Given the description of an element on the screen output the (x, y) to click on. 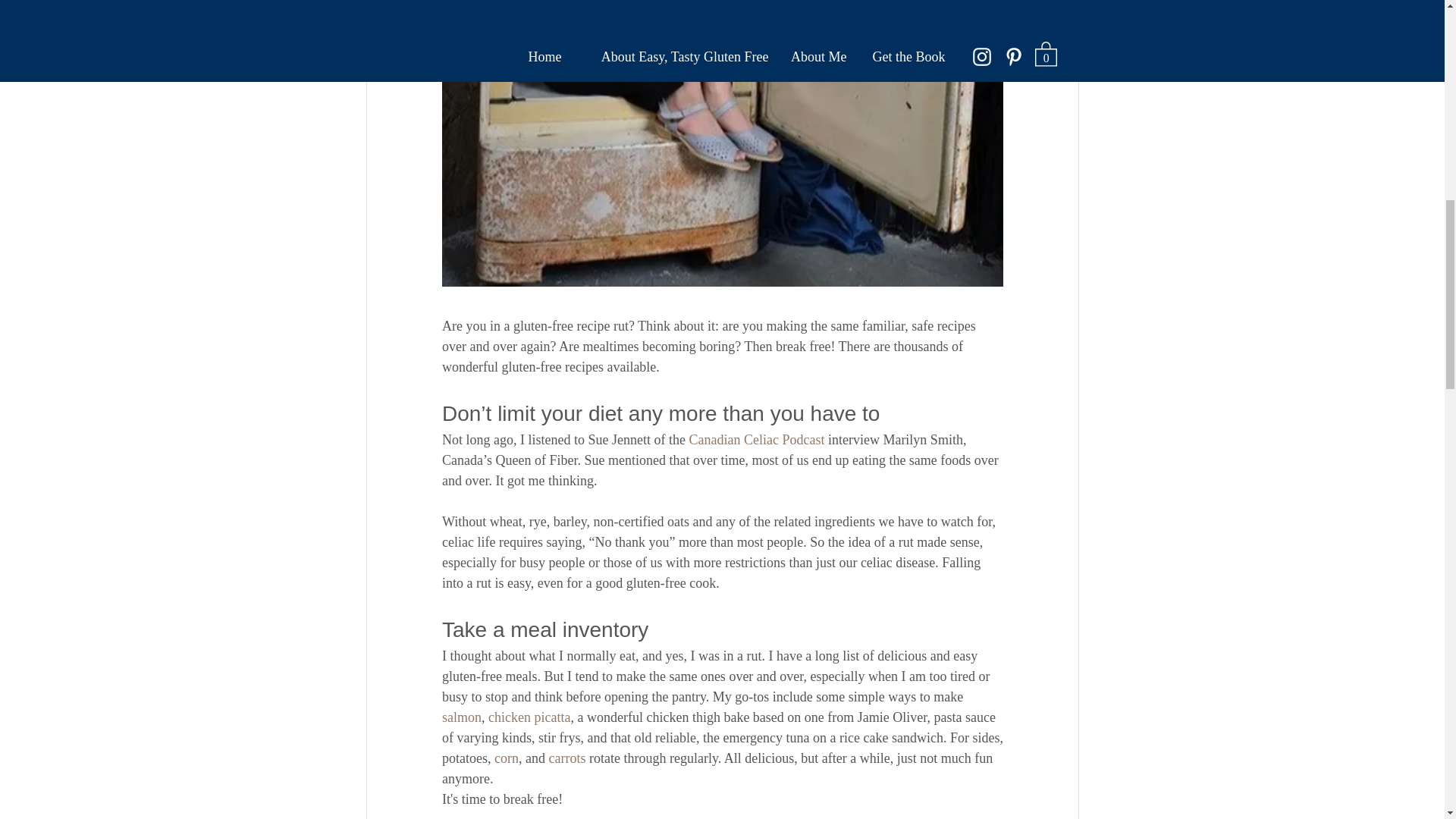
chicken picatta (528, 716)
Canadian Celiac Podcast (756, 438)
salmon (460, 716)
corn (506, 757)
carrots (566, 757)
